Given the description of an element on the screen output the (x, y) to click on. 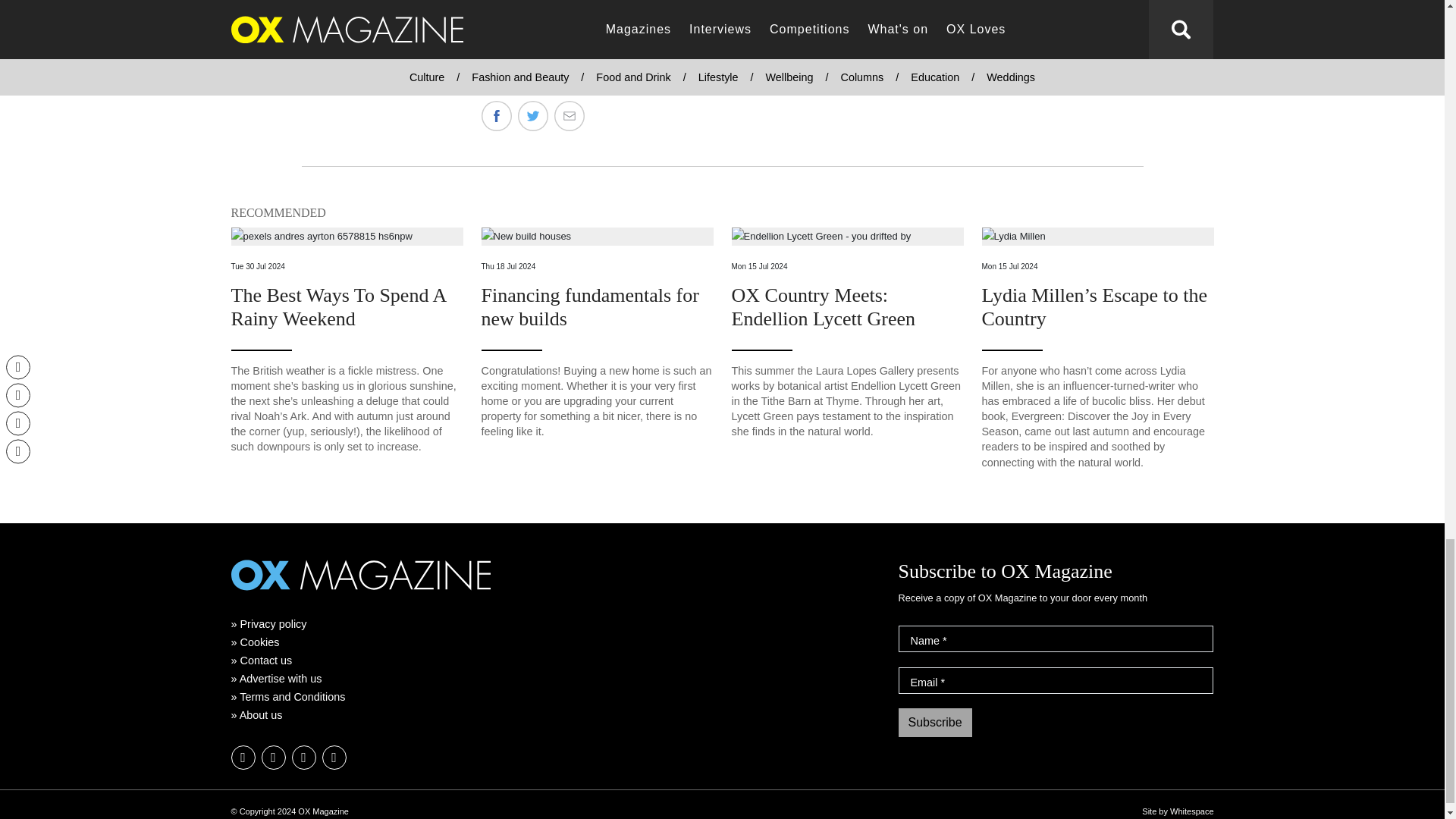
This field is required (942, 682)
This field is required (944, 640)
Build It Live 2023 (318, 39)
